Given the description of an element on the screen output the (x, y) to click on. 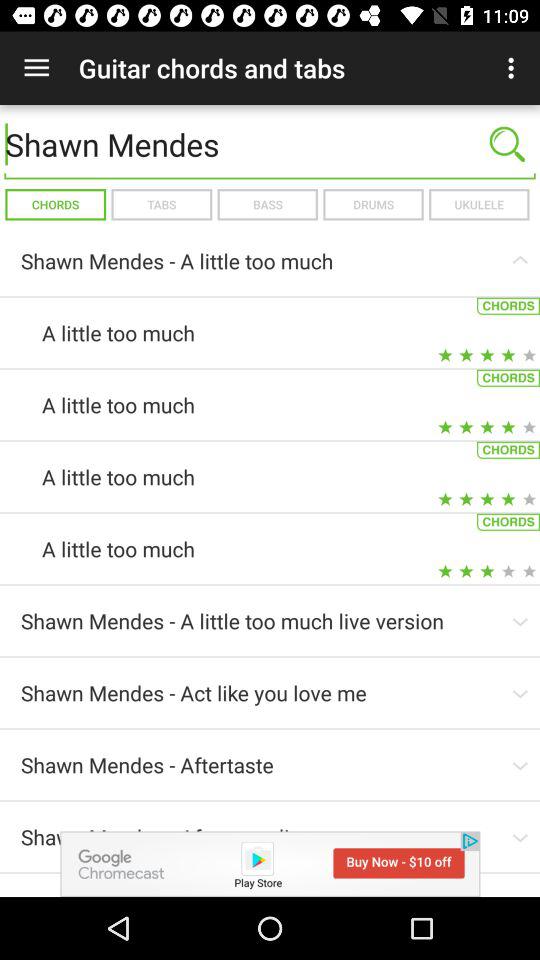
press icon to the left of the drums icon (267, 204)
